Given the description of an element on the screen output the (x, y) to click on. 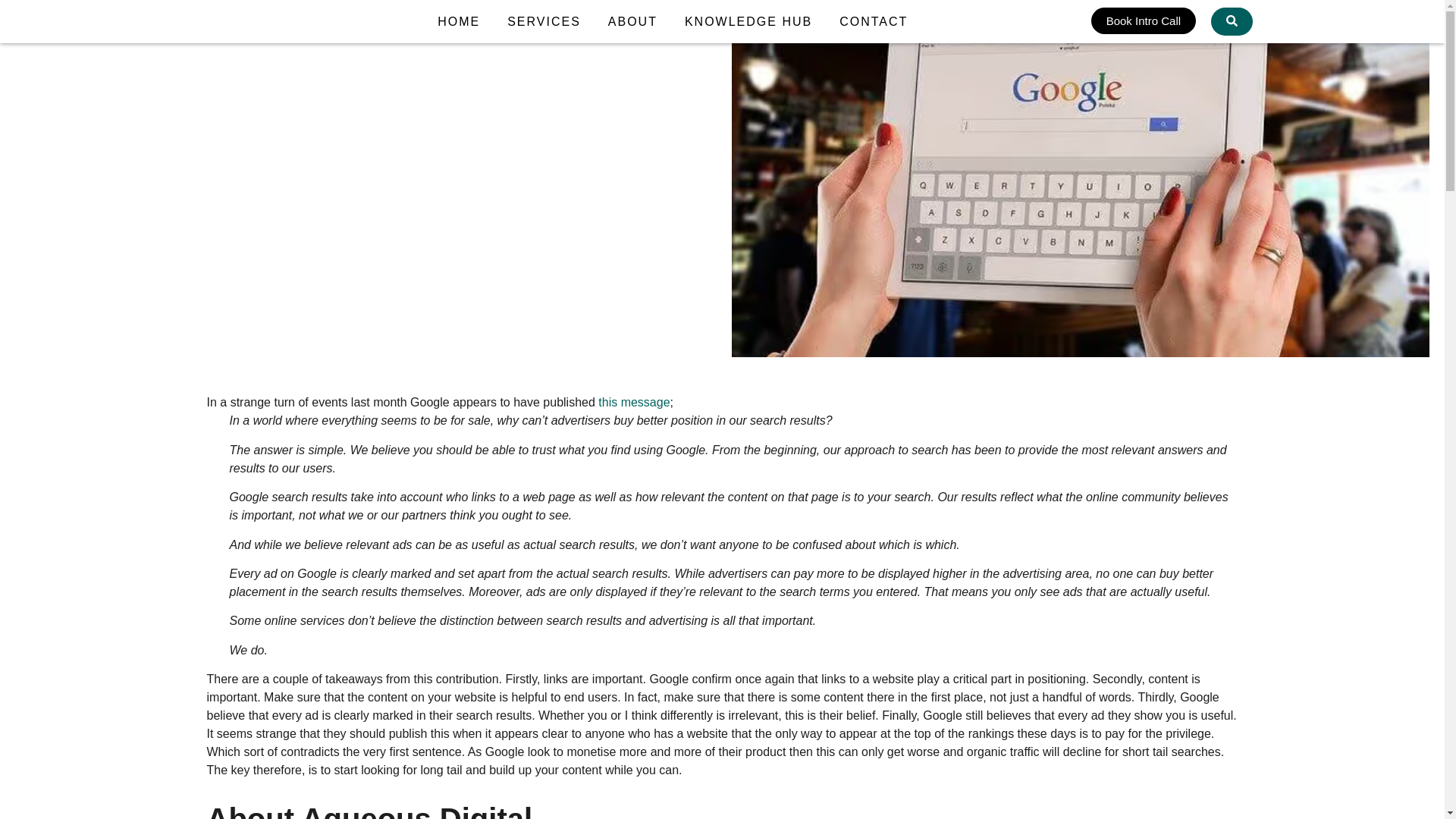
HOME (458, 21)
CONTACT (873, 21)
SERVICES (543, 21)
ABOUT (632, 21)
KNOWLEDGE HUB (748, 21)
aqueous-logo (214, 21)
